Given the description of an element on the screen output the (x, y) to click on. 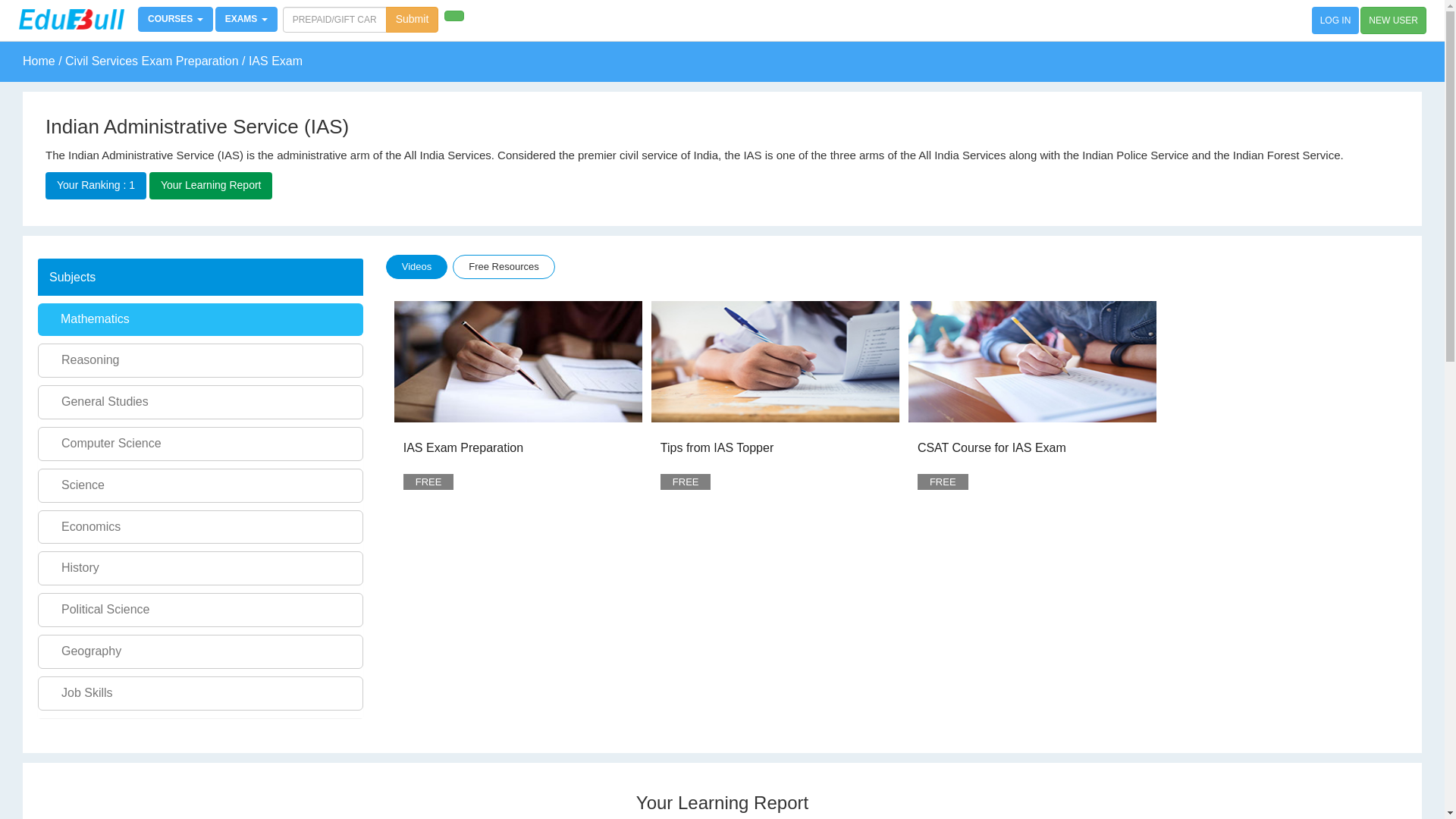
wishlist (883, 475)
wishlist (625, 475)
wishlist (1139, 475)
